Given the description of an element on the screen output the (x, y) to click on. 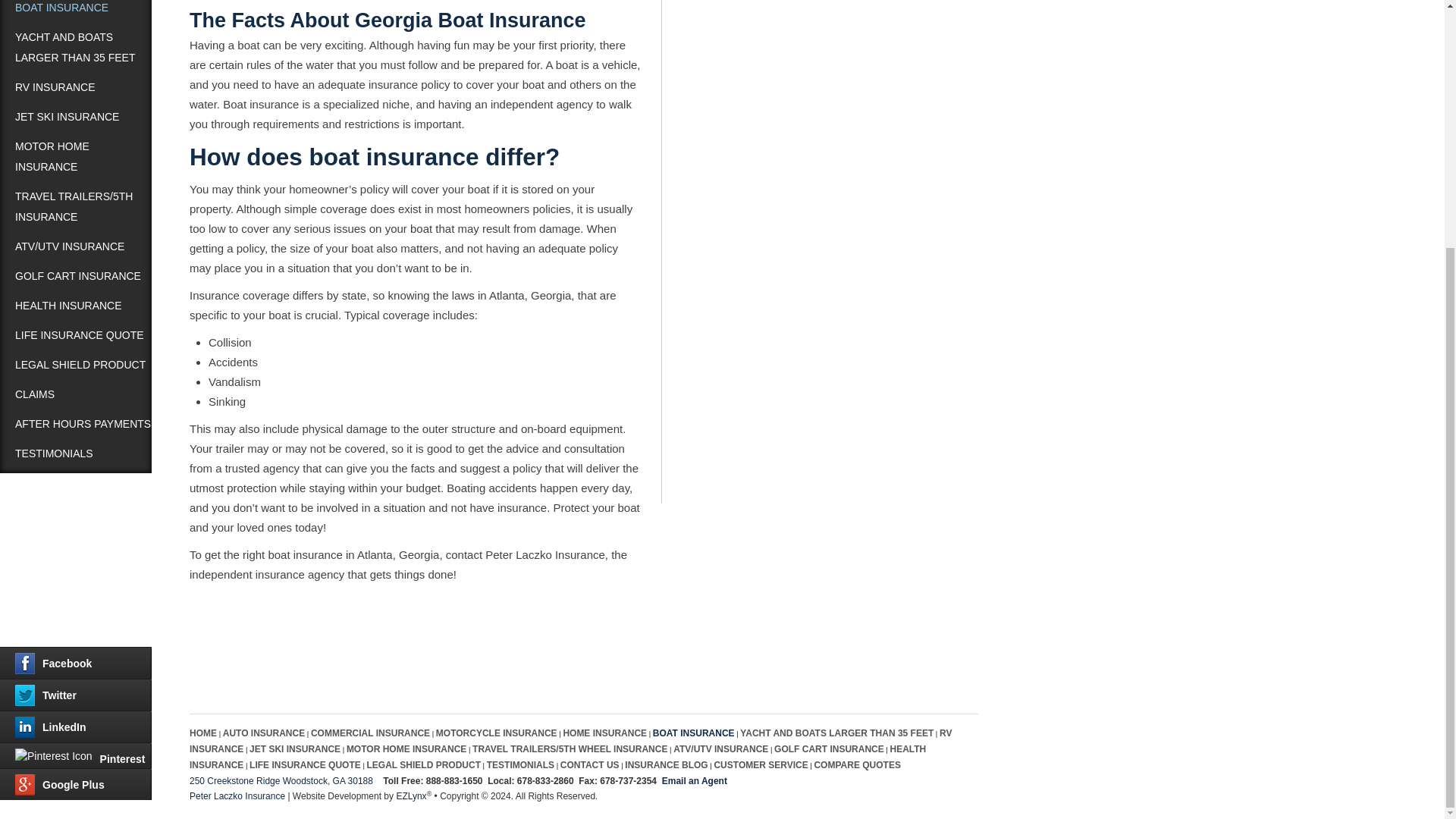
INSURANCE BLOG (75, 512)
TESTIMONIALS (75, 453)
Golf Cart Insurance (75, 276)
AFTER HOURS PAYMENTS (75, 423)
CONTACT US (75, 482)
GOLF CART INSURANCE (75, 276)
Motor Home Insurance (75, 156)
Boat Insurance (75, 11)
LEGAL SHIELD PRODUCT (75, 365)
Jet Ski Insurance (75, 116)
JET SKI INSURANCE (75, 116)
YACHT AND BOATS LARGER THAN 35 FEET (75, 47)
Yacht and boats larger than 35 feet (75, 47)
MOTOR HOME INSURANCE (75, 156)
CLAIMS (75, 394)
